Given the description of an element on the screen output the (x, y) to click on. 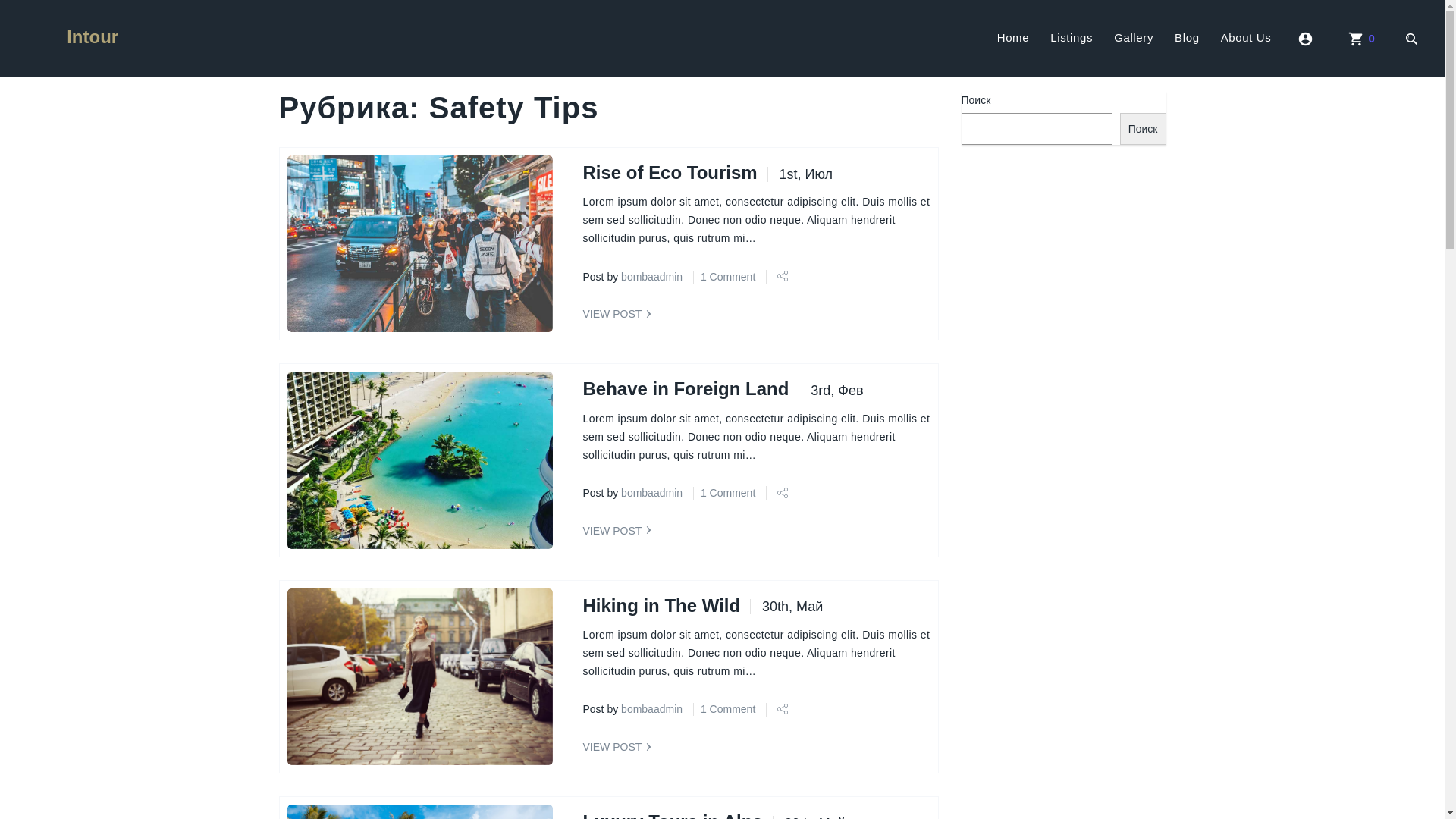
Listings Element type: text (1071, 53)
1 Comment Element type: text (727, 492)
bombaadmin Element type: text (651, 276)
1 Comment Element type: text (727, 276)
1 Comment Element type: text (727, 708)
VIEW POST Element type: text (617, 313)
About Us Element type: text (1245, 53)
bombaadmin Element type: text (651, 492)
Behave in Foreign Land Element type: text (685, 388)
Intour Element type: text (95, 38)
Blog Element type: text (1186, 53)
account_circle Element type: text (1307, 53)
Gallery Element type: text (1133, 53)
VIEW POST Element type: text (617, 746)
bombaadmin Element type: text (651, 708)
Home Element type: text (1013, 53)
shopping_cart0 Element type: text (1361, 53)
Hiking in The Wild Element type: text (661, 605)
Rise of Eco Tourism Element type: text (669, 172)
VIEW POST Element type: text (617, 530)
